Given the description of an element on the screen output the (x, y) to click on. 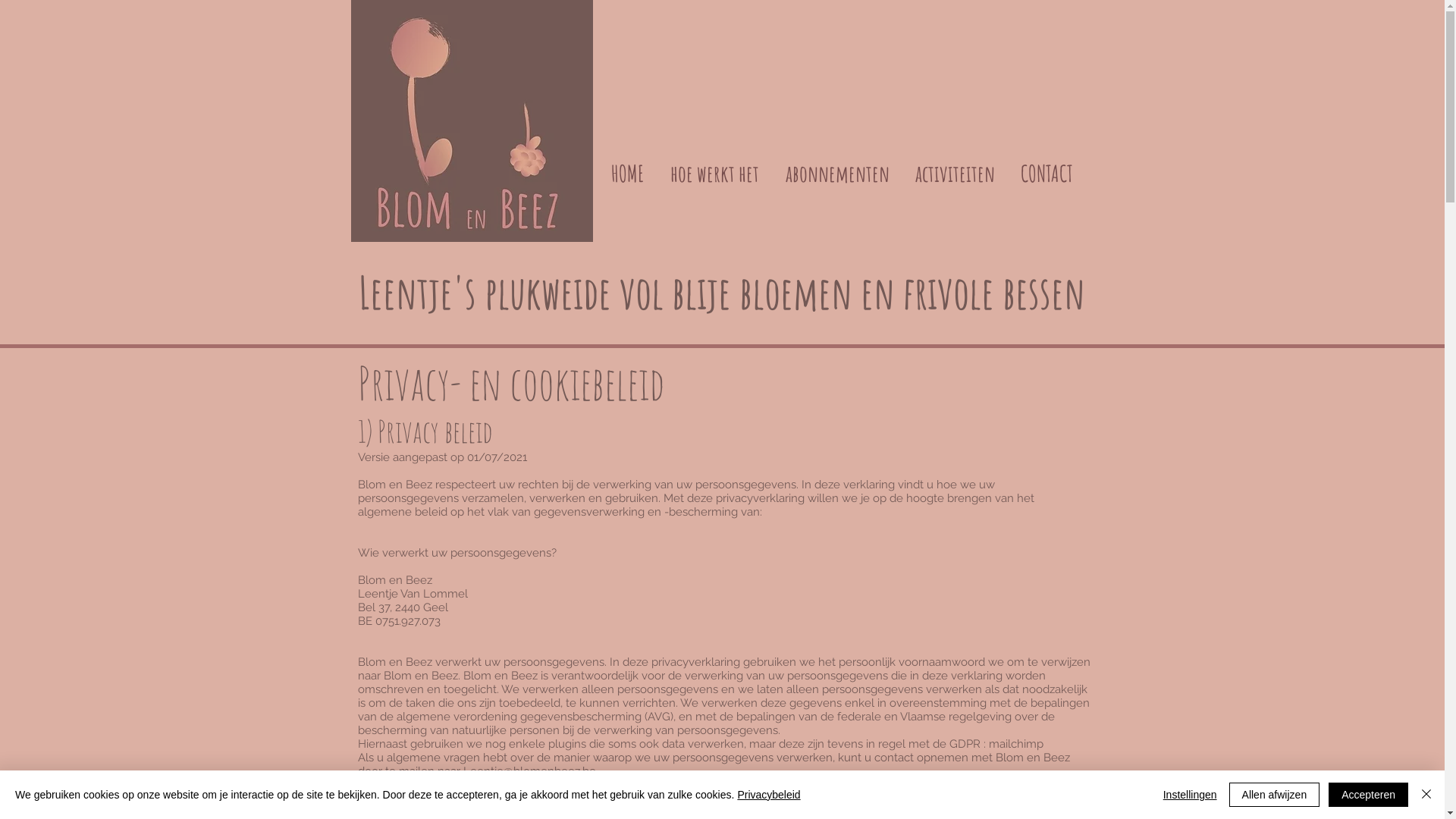
hoe werkt het Element type: text (713, 173)
Leentje@blomenbeez.be Element type: text (528, 771)
HOME Element type: text (626, 173)
abonnementen Element type: text (836, 173)
activiteiten Element type: text (954, 173)
CONTACT Element type: text (1046, 173)
